Given the description of an element on the screen output the (x, y) to click on. 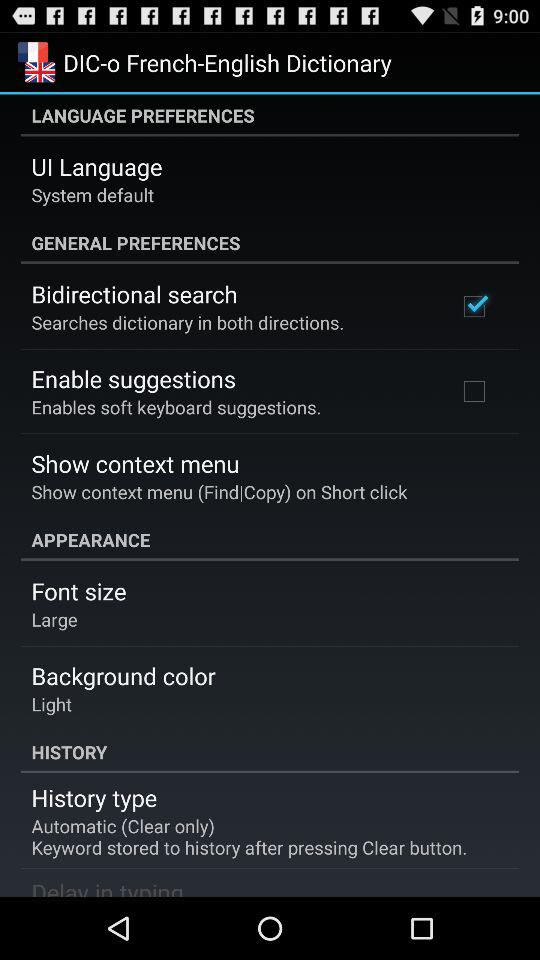
select the app below the history icon (94, 797)
